Given the description of an element on the screen output the (x, y) to click on. 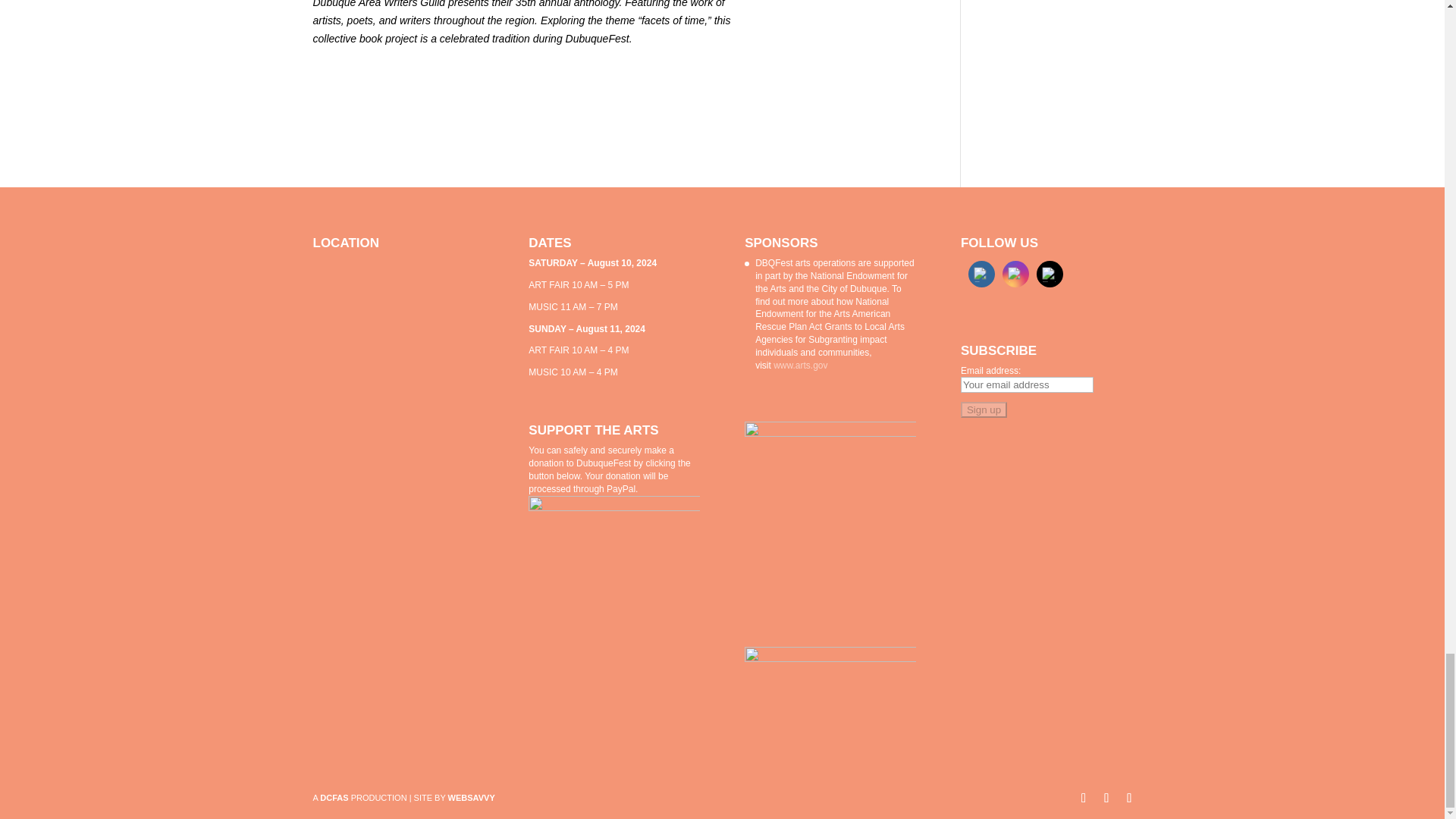
WEBSAVVY (471, 797)
Sign up (983, 409)
Twitter (1049, 273)
DCFAS PRODUCTION (363, 797)
Facebook (981, 273)
Sign up (983, 409)
www.arts.gov (800, 365)
Instagram (1016, 273)
